Given the description of an element on the screen output the (x, y) to click on. 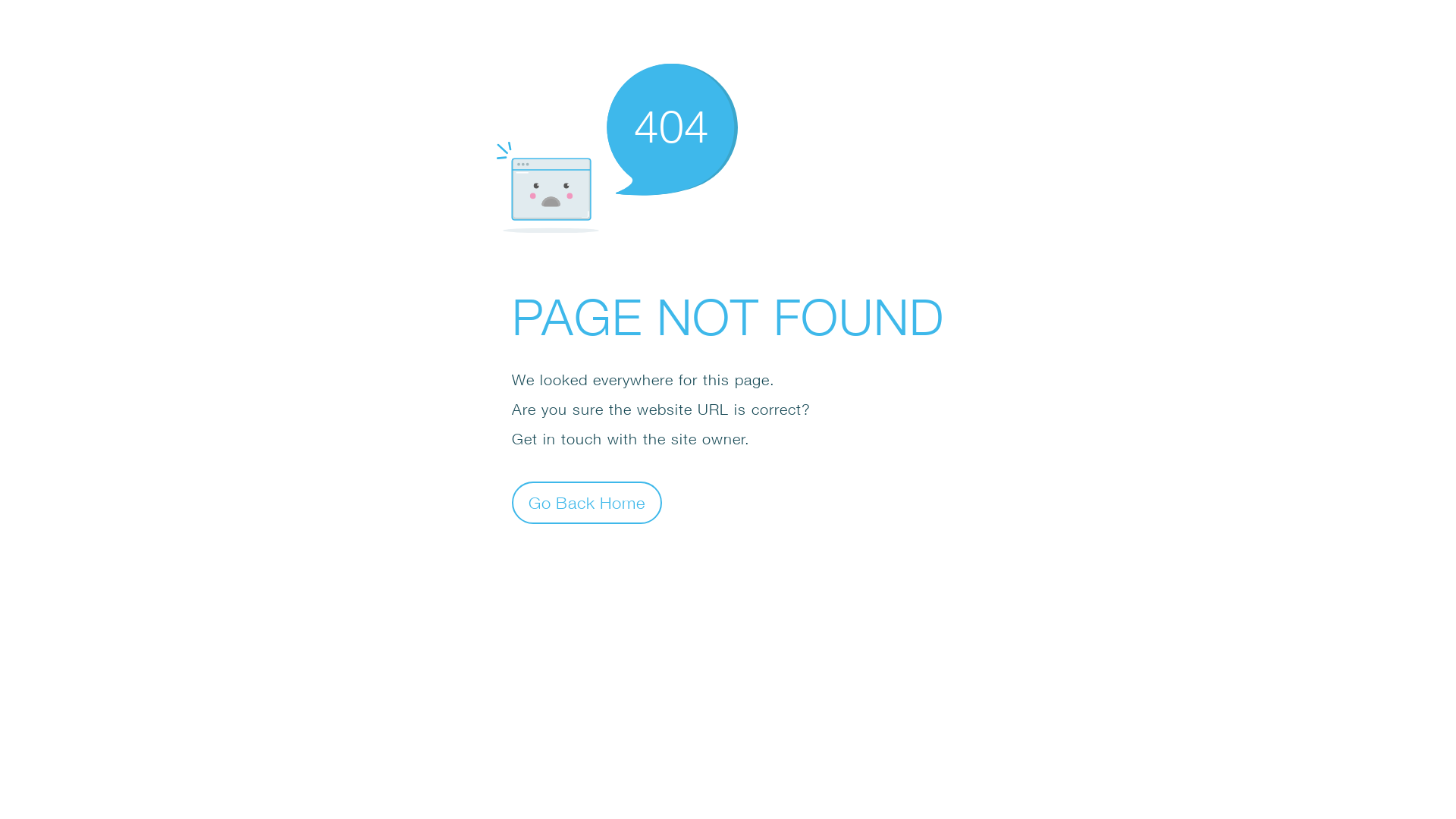
Go Back Home Element type: text (586, 502)
